Given the description of an element on the screen output the (x, y) to click on. 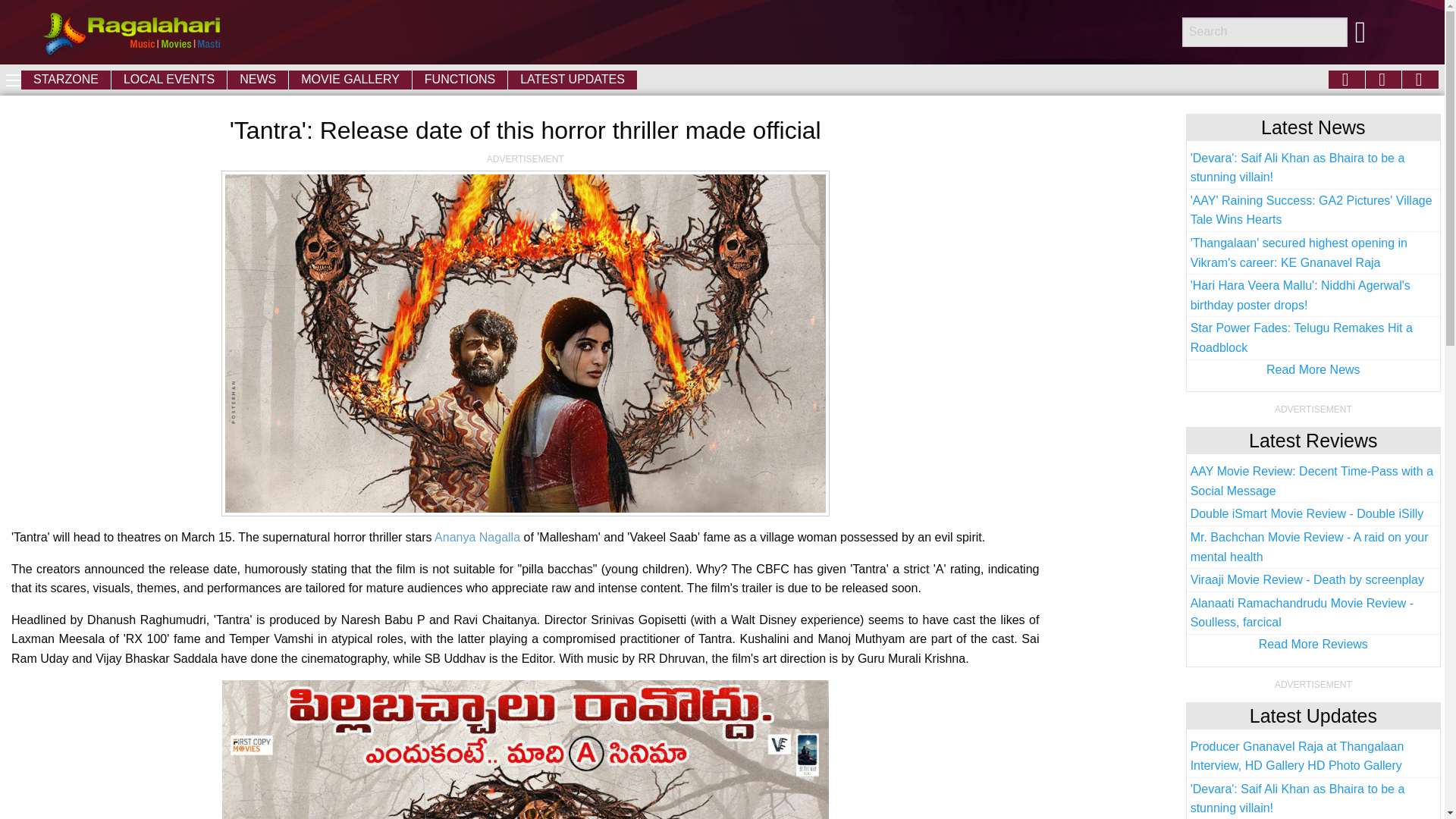
FUNCTIONS (459, 79)
STARZONE (65, 79)
LOCAL EVENTS (169, 79)
MOVIE GALLERY (350, 79)
NEWS (257, 79)
LATEST UPDATES (572, 79)
